Given the description of an element on the screen output the (x, y) to click on. 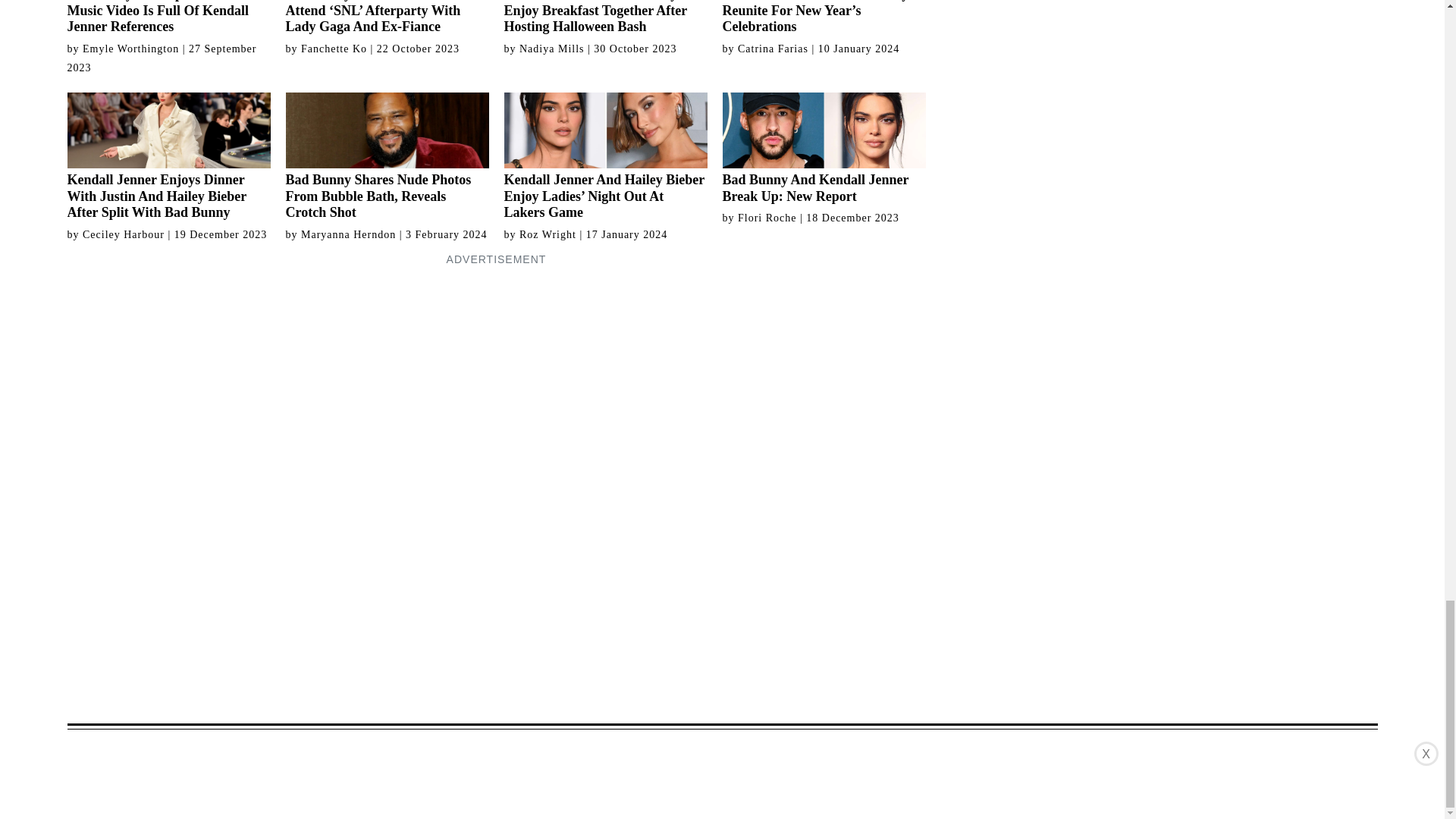
Bad Bunny And Kendall Jenner Break Up: New Report (823, 148)
